Given the description of an element on the screen output the (x, y) to click on. 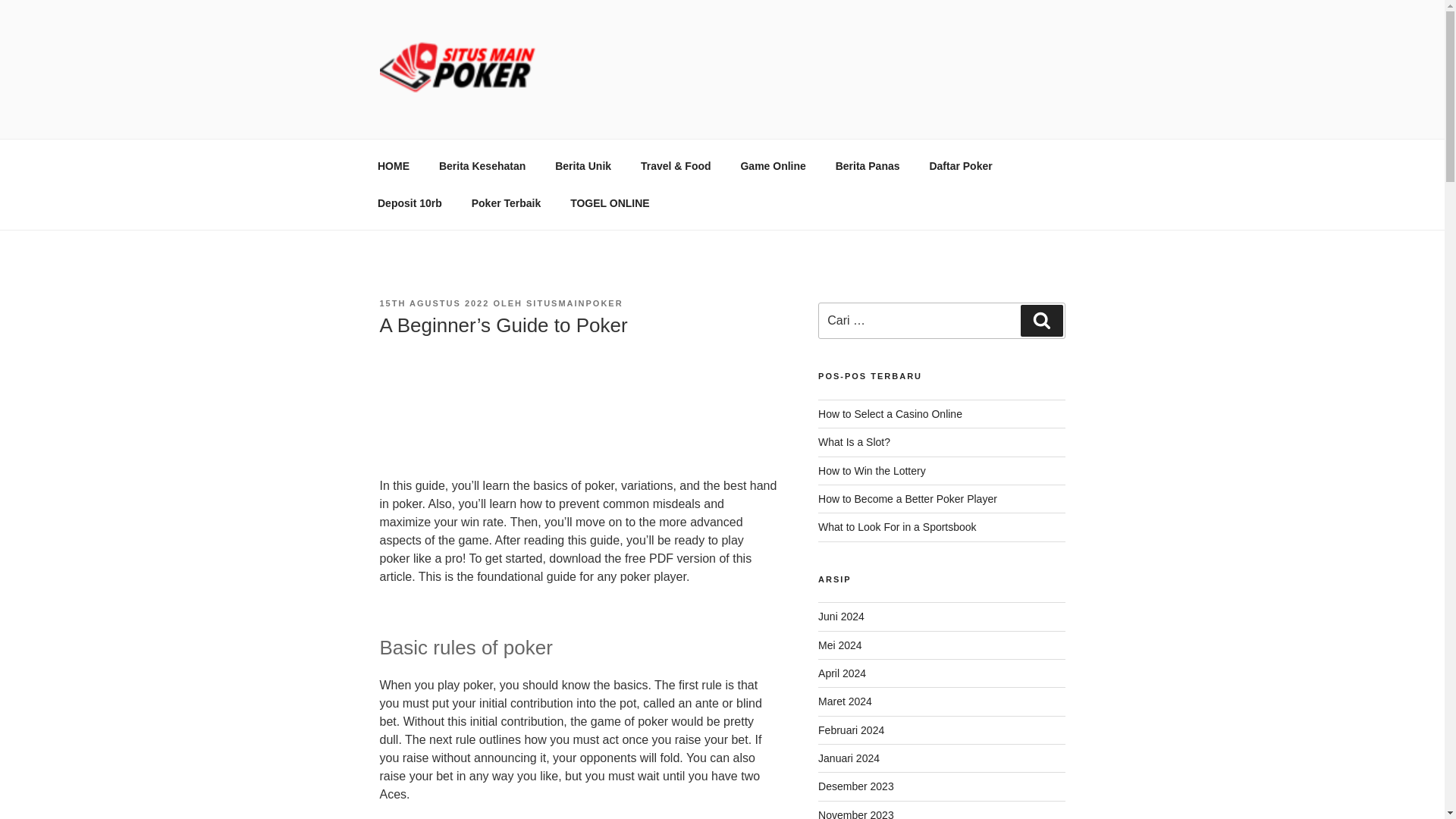
15TH AGUSTUS 2022 (433, 302)
How to Win the Lottery (872, 470)
Berita Unik (582, 165)
Maret 2024 (845, 701)
Poker Terbaik (506, 203)
Juni 2024 (841, 616)
Berita Kesehatan (481, 165)
TOGEL ONLINE (610, 203)
How to Become a Better Poker Player (907, 499)
Mei 2024 (839, 644)
What to Look For in a Sportsbook (897, 526)
Game Online (772, 165)
HOME (393, 165)
April 2024 (842, 673)
Deposit 10rb (409, 203)
